Given the description of an element on the screen output the (x, y) to click on. 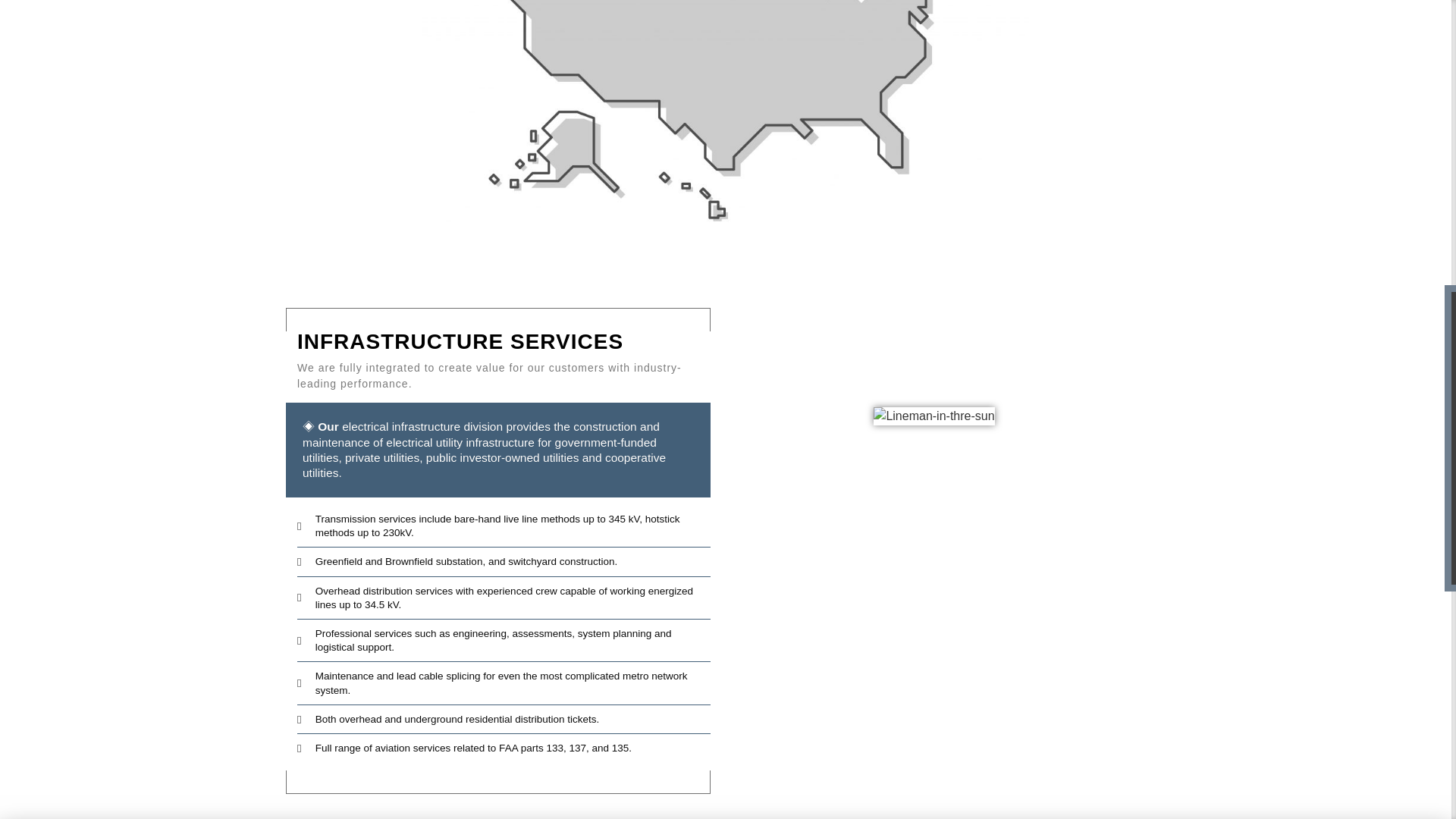
Lineman-in-thre-sun (933, 416)
